Given the description of an element on the screen output the (x, y) to click on. 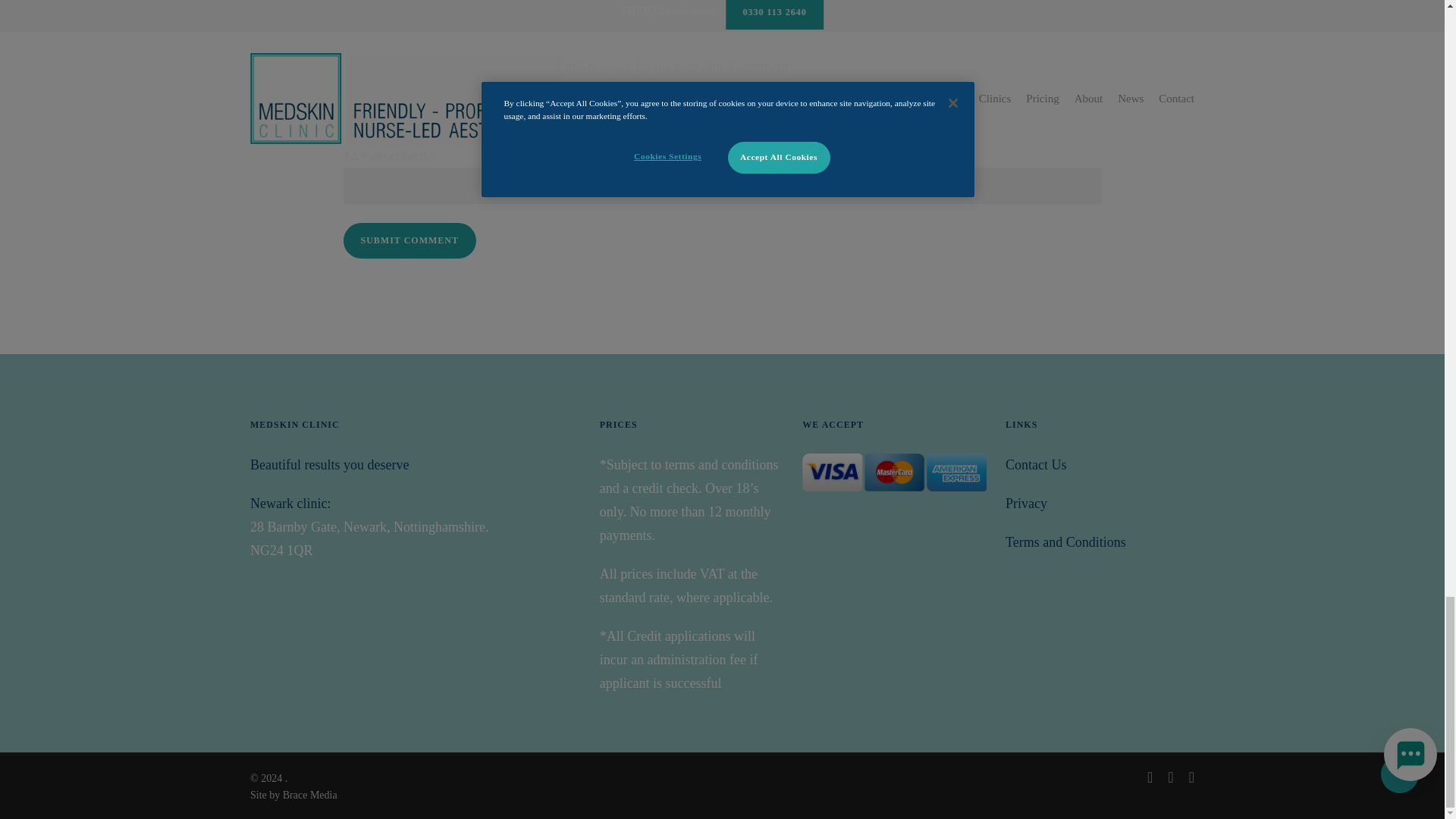
Submit Comment (409, 240)
yes (350, 67)
